Given the description of an element on the screen output the (x, y) to click on. 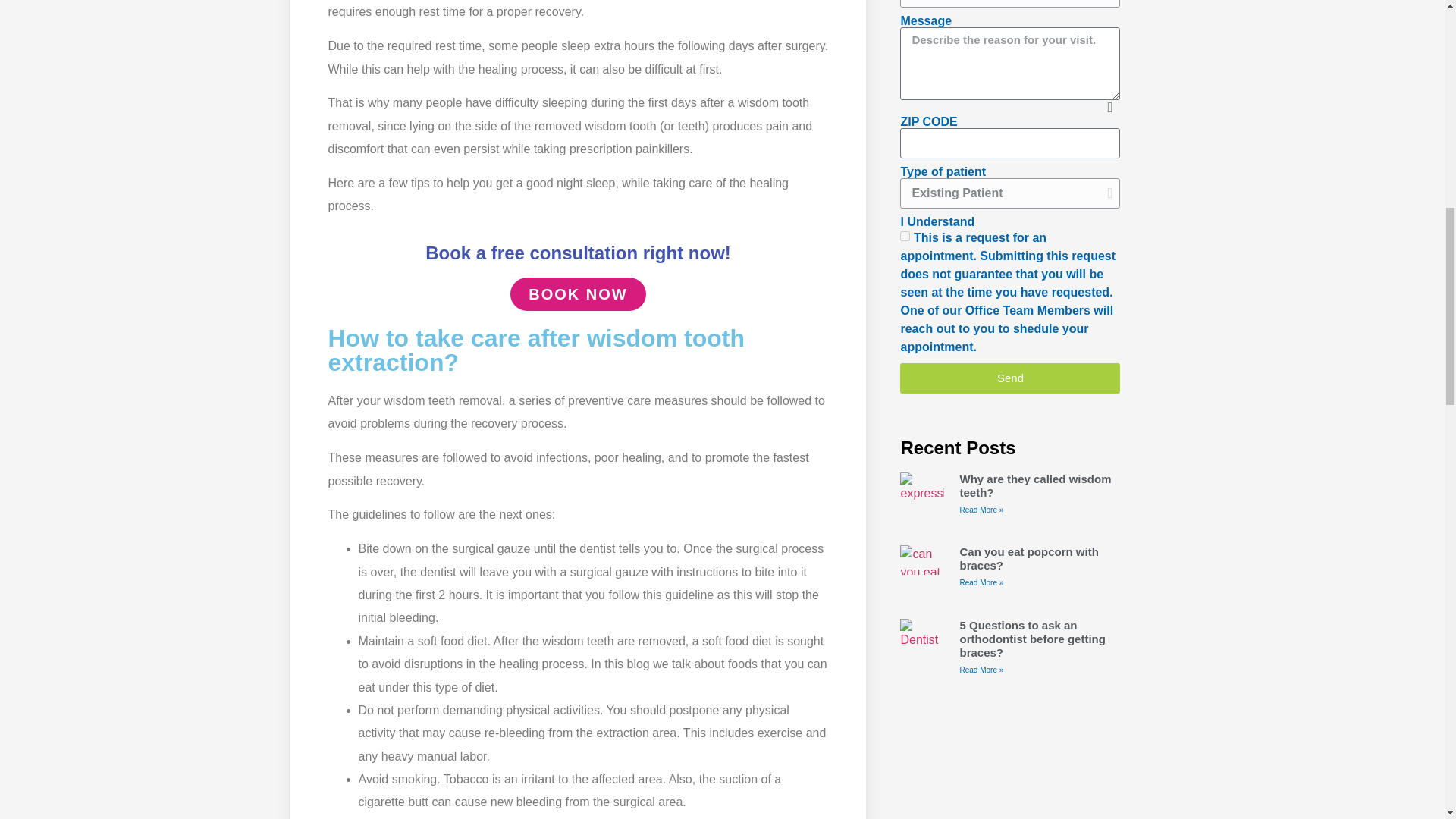
on (904, 235)
